Given the description of an element on the screen output the (x, y) to click on. 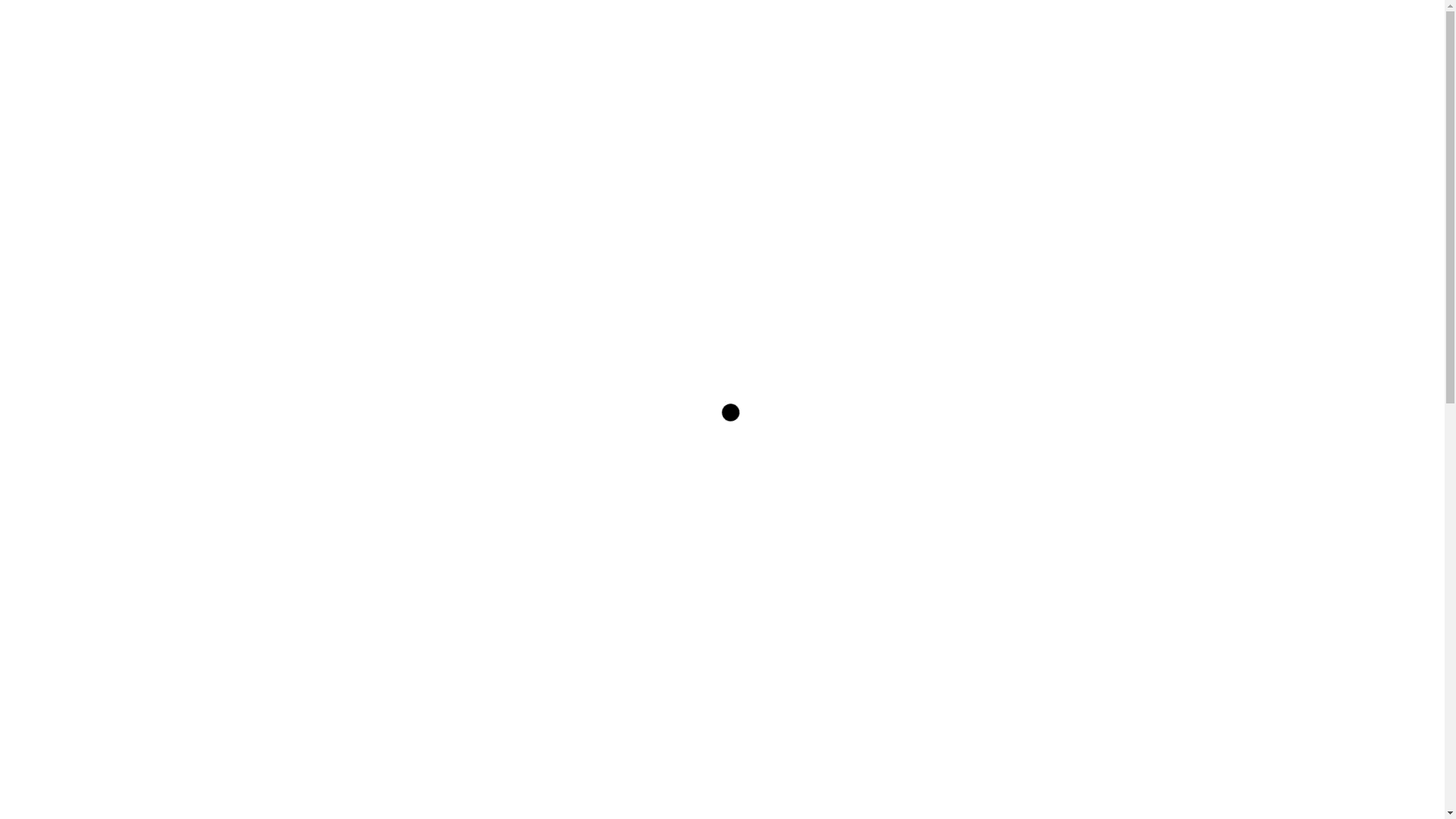
  [MORE] Element type: text (314, 688)
 CONTINUE  Element type: text (553, 562)
SHAMPOO Element type: text (846, 77)
ACCESSORIES Element type: text (1029, 77)
0Item(s) -$0.00 Element type: text (1093, 18)
CLIPPERS Element type: text (679, 77)
 Printed Ribbon- Schnauzer (Red & Gold)  Element type: hover (315, 532)
GROOMING Element type: text (931, 77)
Checkout Element type: text (550, 18)
Printed Ribbon- Noisy New Year Confetti Element type: text (421, 422)
SCISSORS Element type: text (761, 77)
 Printed Ribbon- I Love My Family  Element type: hover (315, 611)
Nature's Specialties Hypo "Aloe" Genic Shampoo- 16 oz Element type: text (420, 784)
INFO Element type: text (1110, 77)
Home Element type: text (304, 183)
Sign In / Register Element type: text (341, 18)
 Printed Ribbon- Mini Checks  Element type: hover (315, 351)
Wishlist Element type: text (422, 18)
 Printed Ribbon- Noisy New Year Confetti  Element type: hover (315, 445)
Printed Ribbon- I Love My Family Element type: text (418, 596)
Printed Ribbon- Schnauzer (Red & Gold) Element type: text (421, 509)
Printed Ribbon- Mini Checks Element type: text (405, 336)
Compare Element type: text (484, 18)
